Given the description of an element on the screen output the (x, y) to click on. 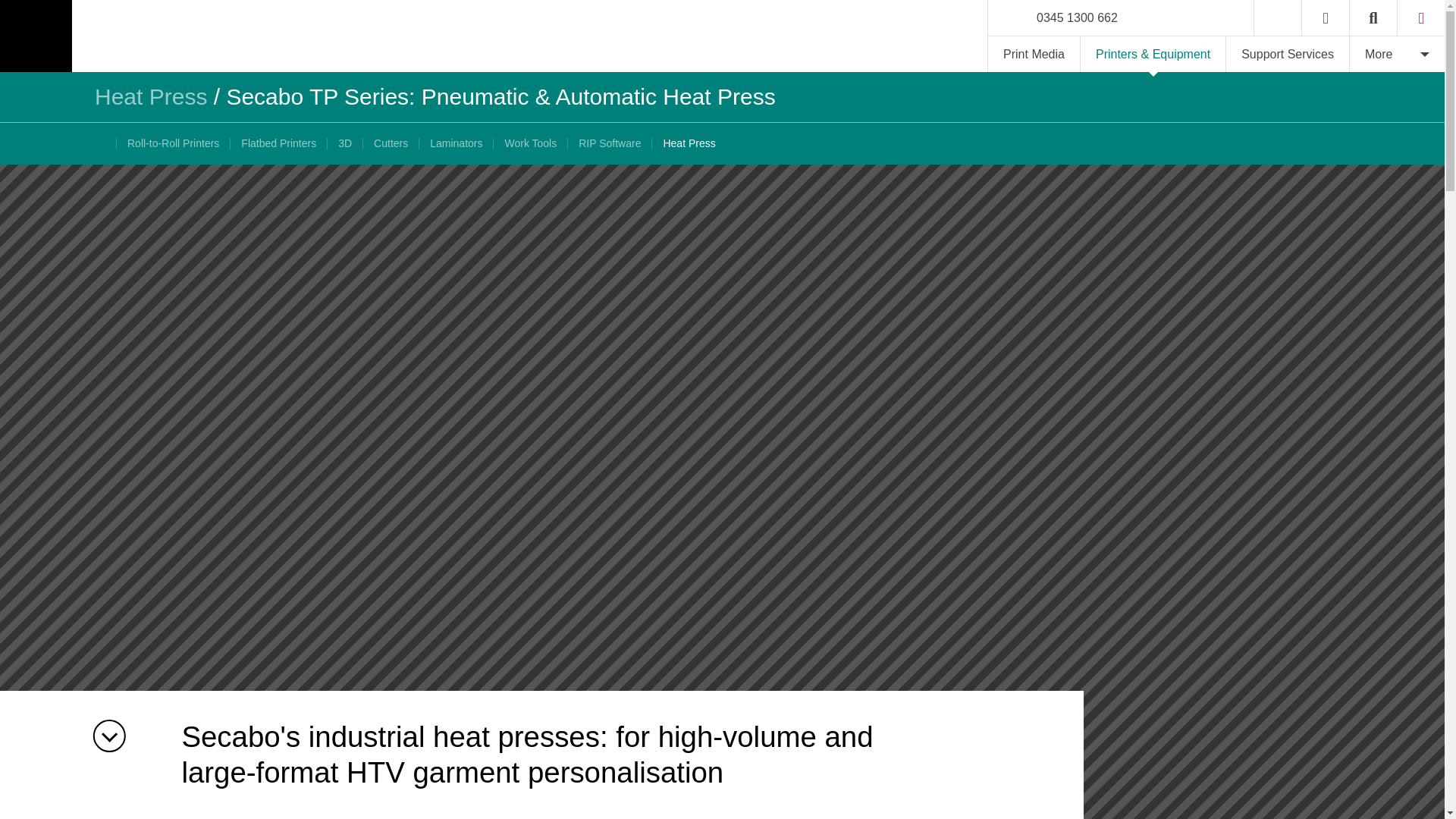
Print Media (1034, 54)
Search (1372, 18)
Laminators (456, 143)
Print Media (1034, 54)
Heat Press (150, 96)
Papergraphics (141, 36)
Papergraphics (141, 36)
Home (1277, 18)
3D (344, 143)
Roll-to-Roll Printers (173, 143)
